Given the description of an element on the screen output the (x, y) to click on. 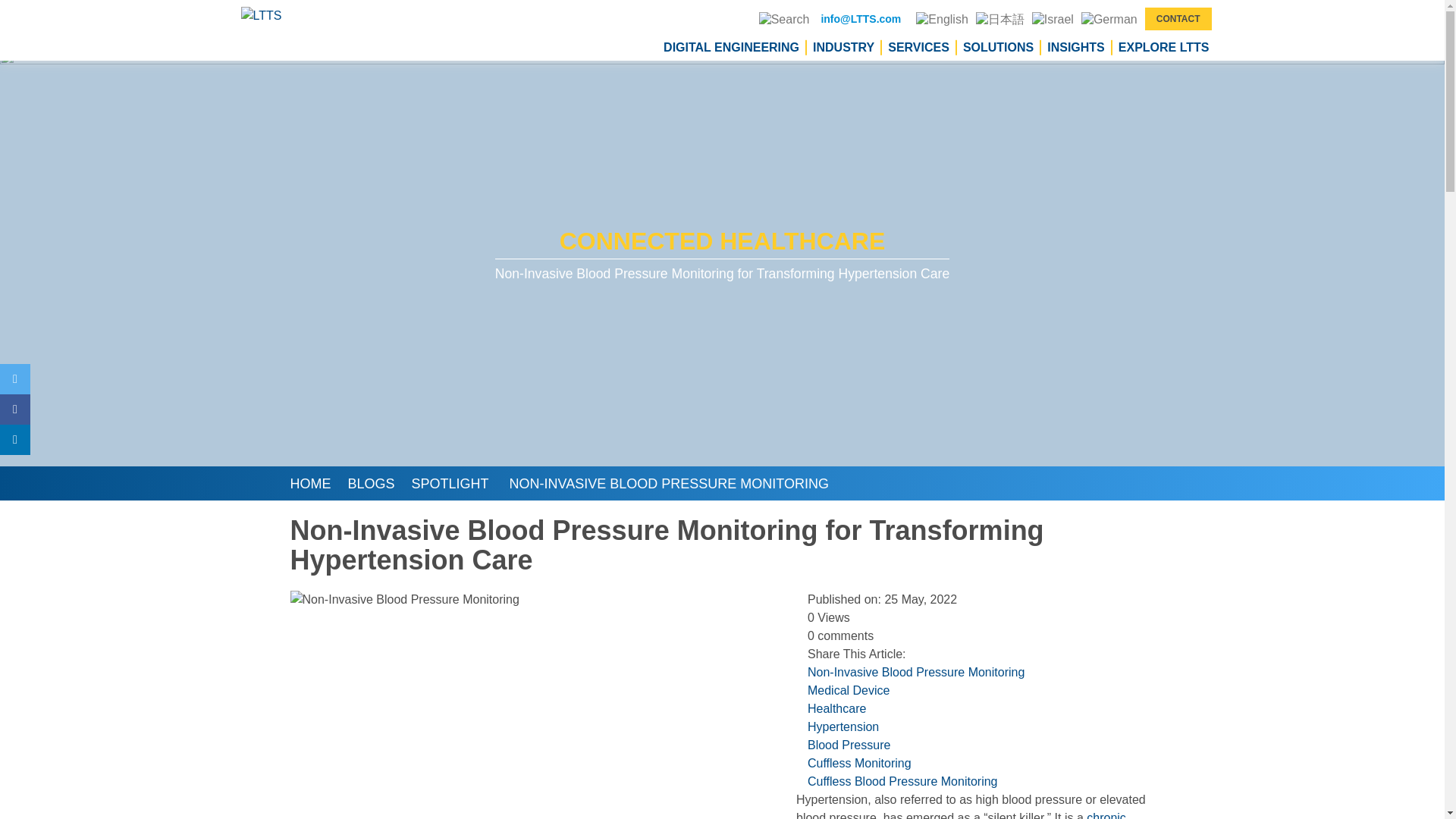
INDUSTRY (842, 47)
Facebook (15, 409)
Twitter (15, 378)
DIGITAL ENGINEERING (730, 47)
CONTACT (1177, 18)
LTTS (267, 15)
Linked in (15, 440)
